Given the description of an element on the screen output the (x, y) to click on. 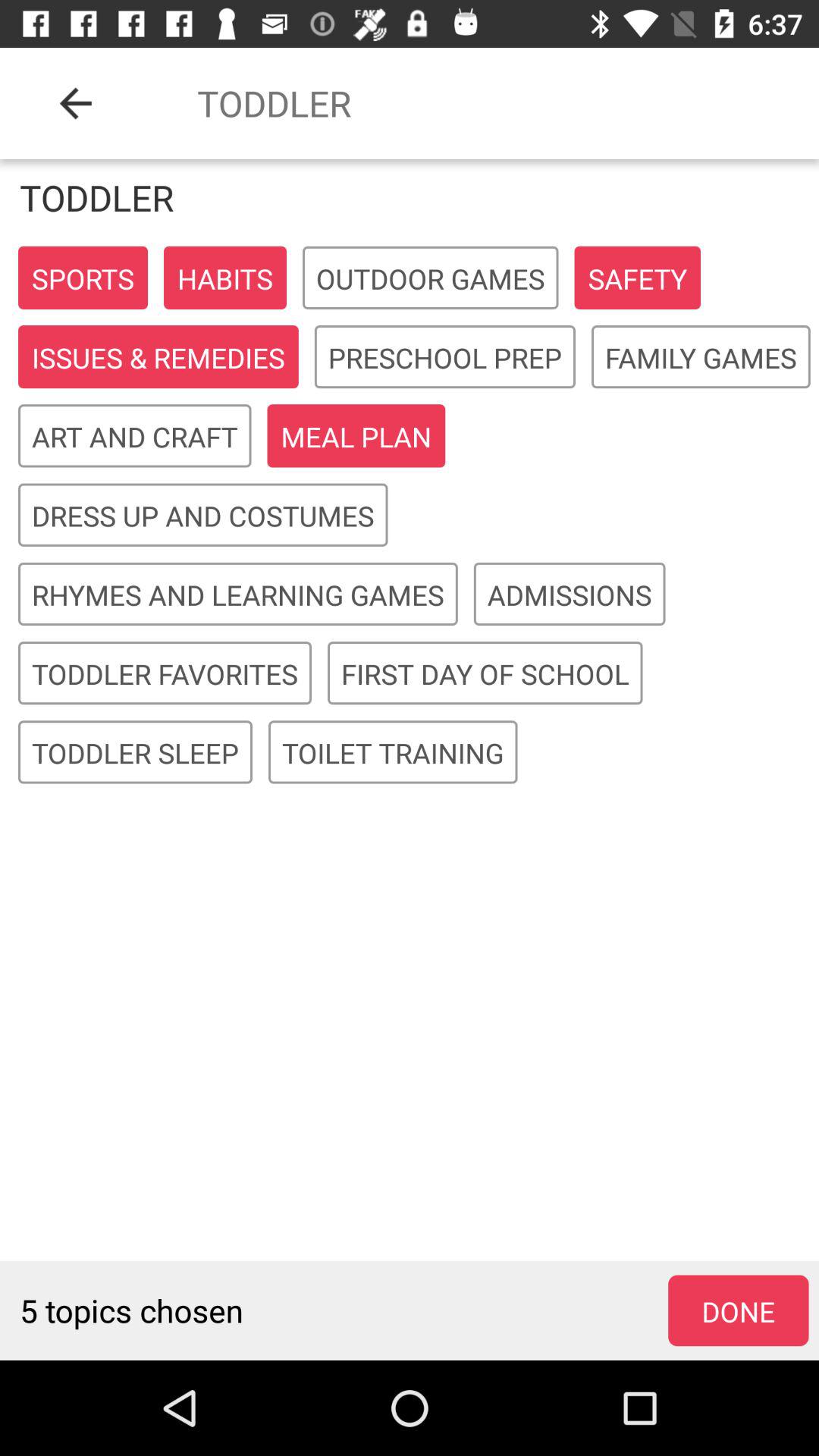
select the icon to the right of 5 topics chosen (738, 1311)
